Given the description of an element on the screen output the (x, y) to click on. 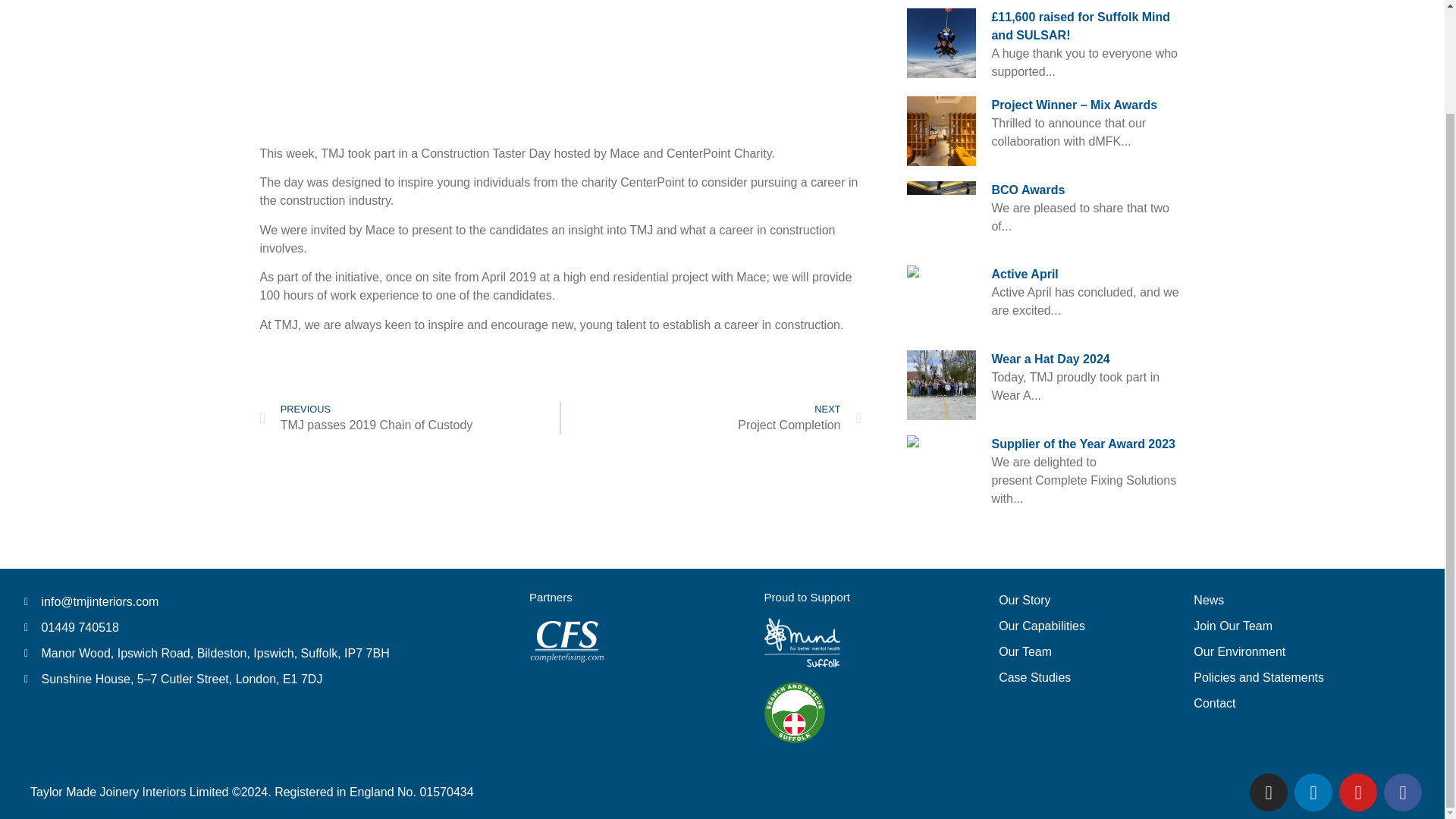
Supplier of the Year Award 2023 (1082, 443)
01449 740518 (252, 628)
Active April (1024, 273)
Wear a Hat Day 2024 (1050, 358)
Our Team (1073, 651)
BCO Awards (710, 418)
Our Story (1027, 189)
Our Capabilities (409, 418)
